Given the description of an element on the screen output the (x, y) to click on. 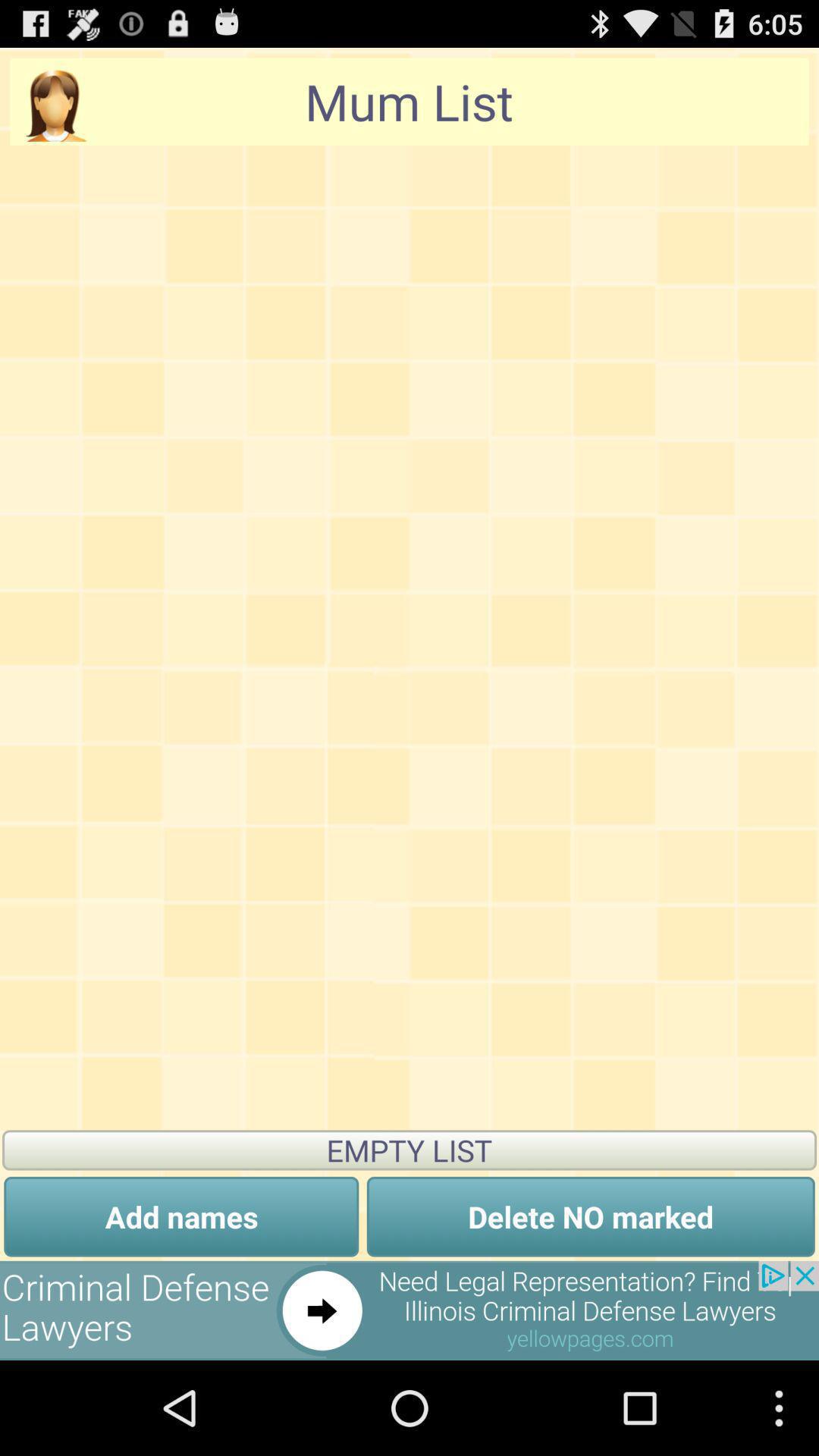
add the option (409, 1310)
